Given the description of an element on the screen output the (x, y) to click on. 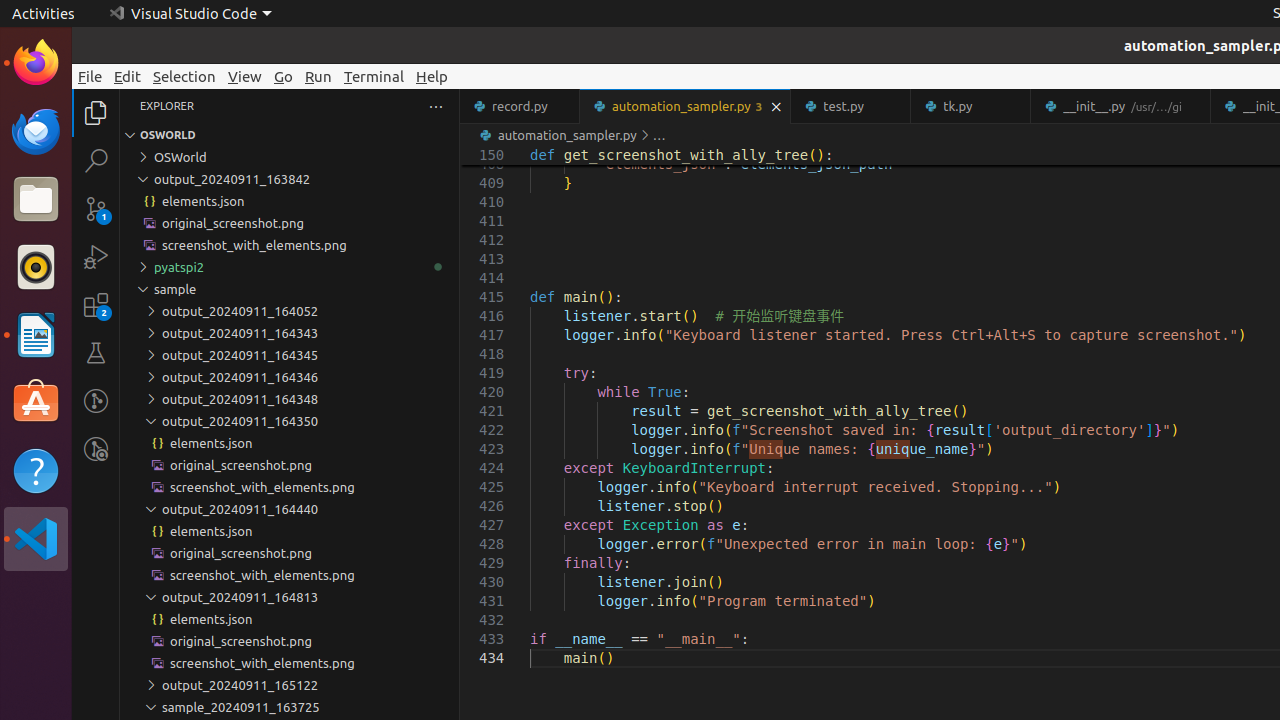
tk.py Element type: page-tab (971, 106)
Explorer (Ctrl+Shift+E) Element type: page-tab (96, 113)
Selection Element type: push-button (184, 76)
output_20240911_164343 Element type: tree-item (289, 333)
File Element type: push-button (90, 76)
